Given the description of an element on the screen output the (x, y) to click on. 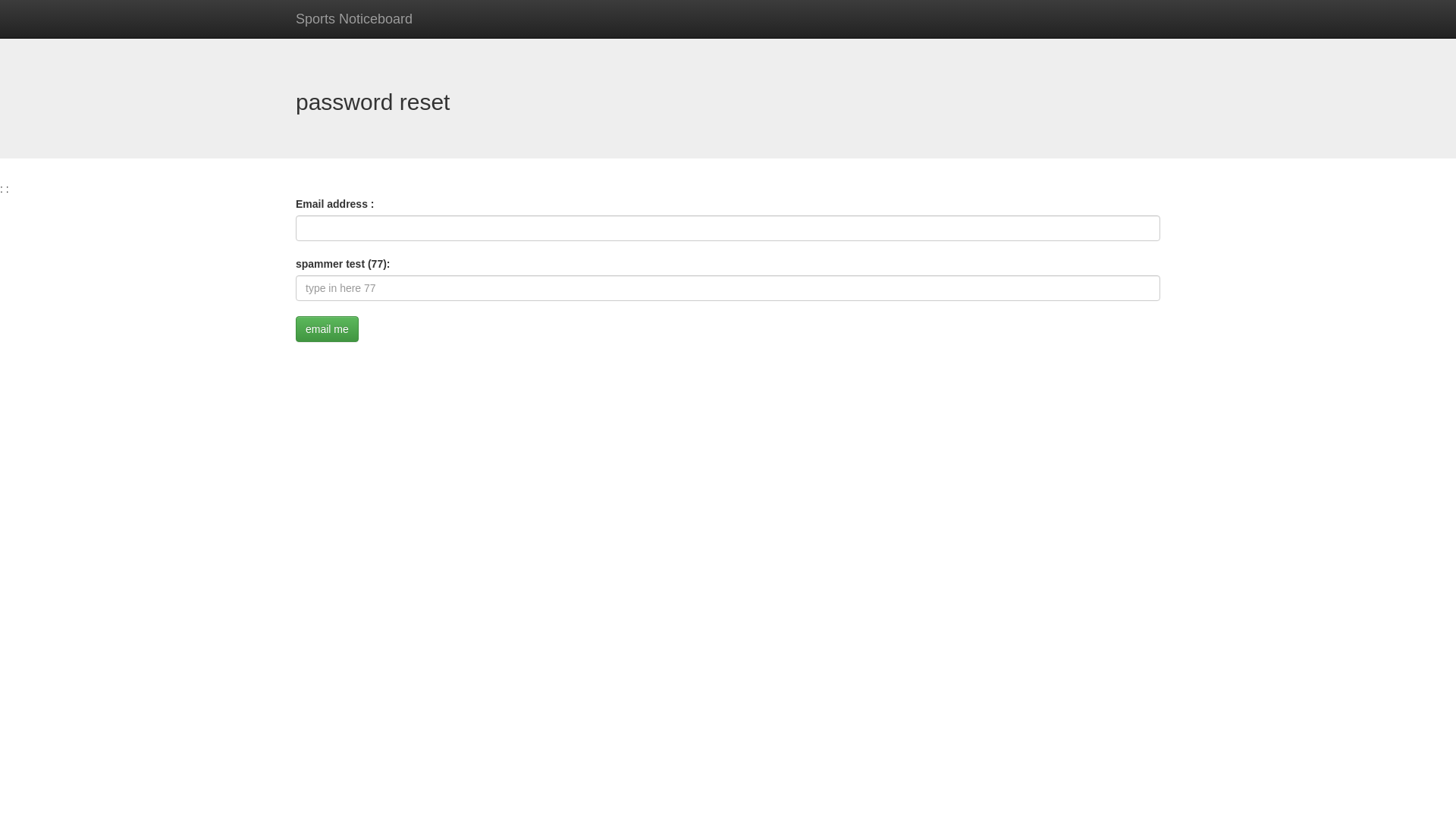
Sports Noticeboard Element type: text (353, 18)
email me Element type: text (326, 329)
